Given the description of an element on the screen output the (x, y) to click on. 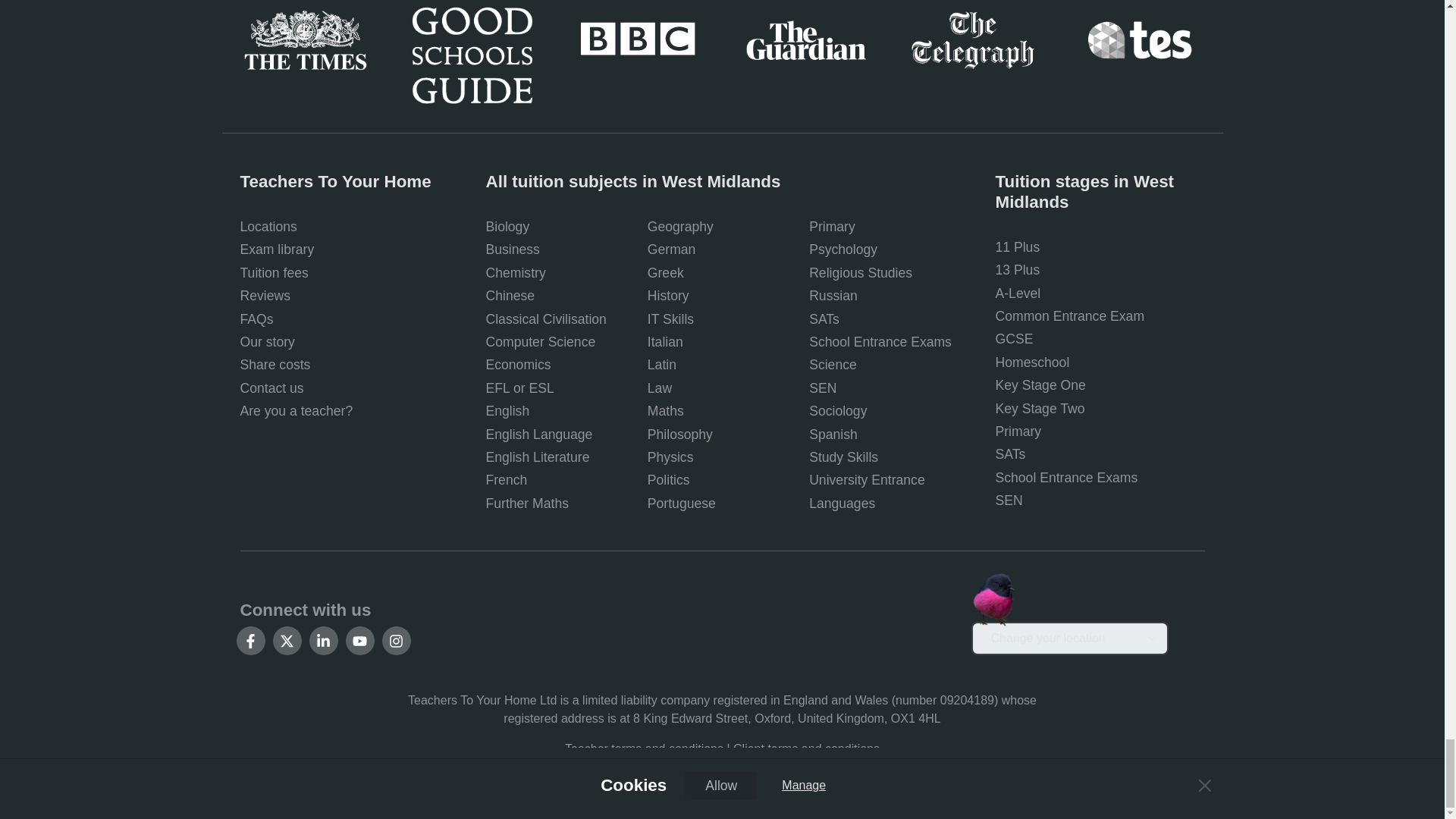
twitter (287, 640)
linkedin (322, 640)
Poppin the TTYH mascot (992, 599)
youtube (360, 640)
instagram (395, 640)
facebook (249, 640)
